Given the description of an element on the screen output the (x, y) to click on. 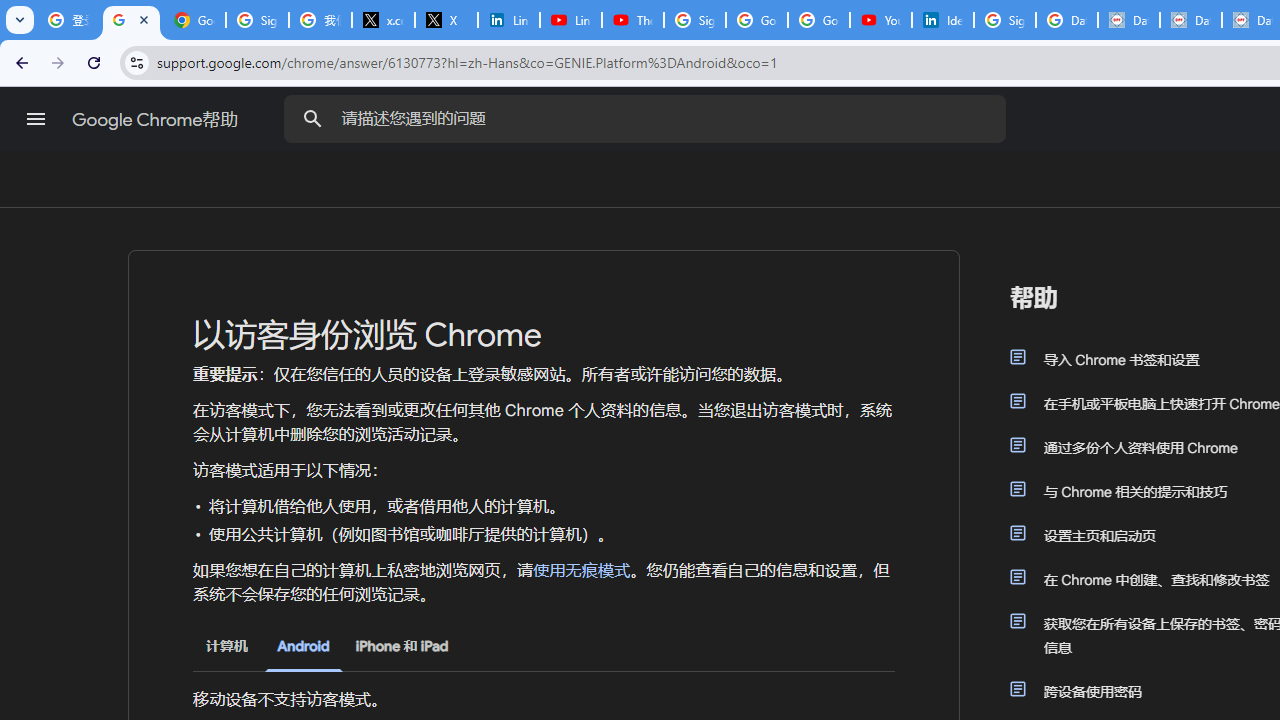
Android (303, 646)
Sign in - Google Accounts (257, 20)
Sign in - Google Accounts (1004, 20)
